Given the description of an element on the screen output the (x, y) to click on. 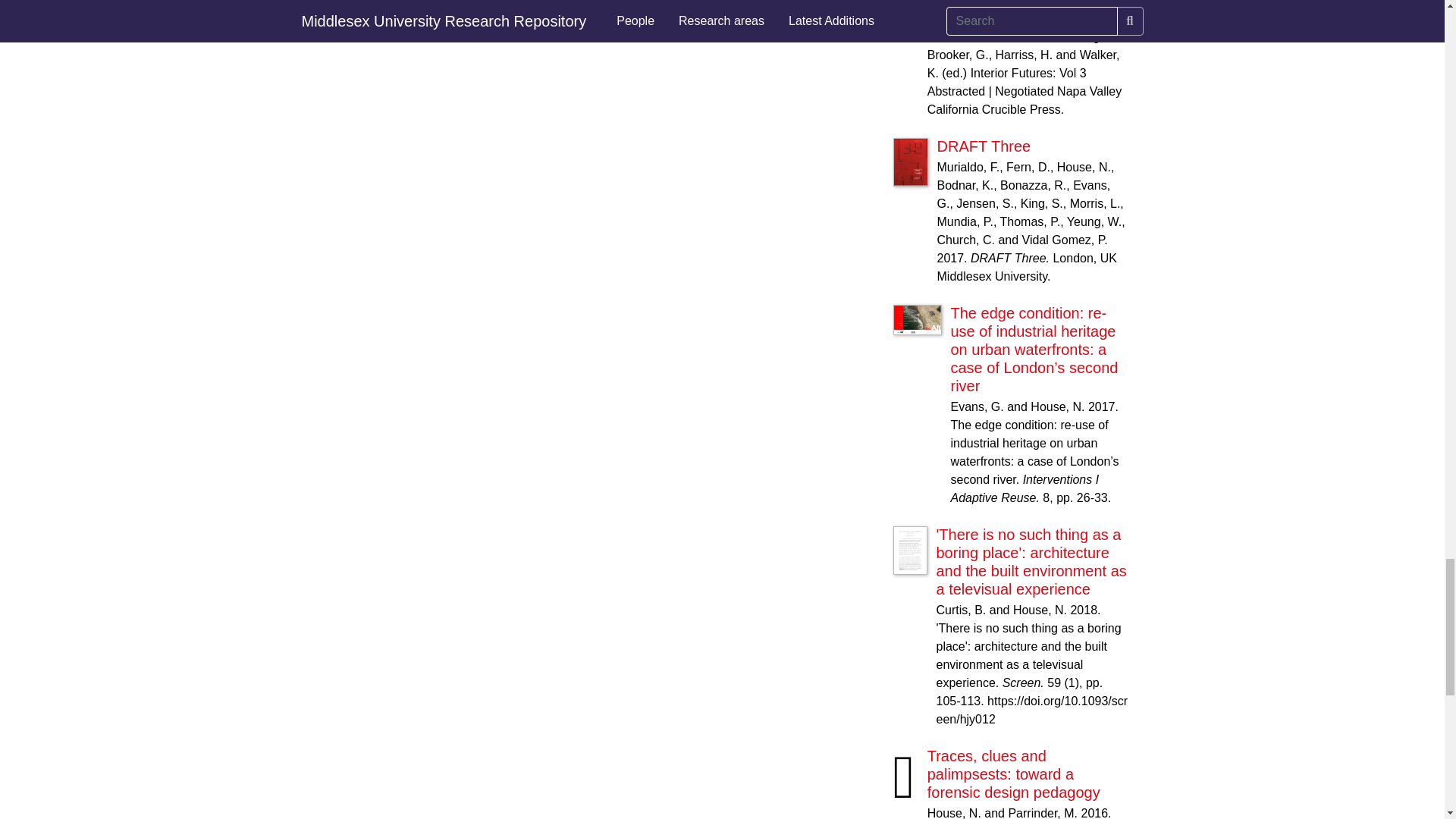
DRAFT Three (983, 146)
Towards seamful living (1003, 2)
